Given the description of an element on the screen output the (x, y) to click on. 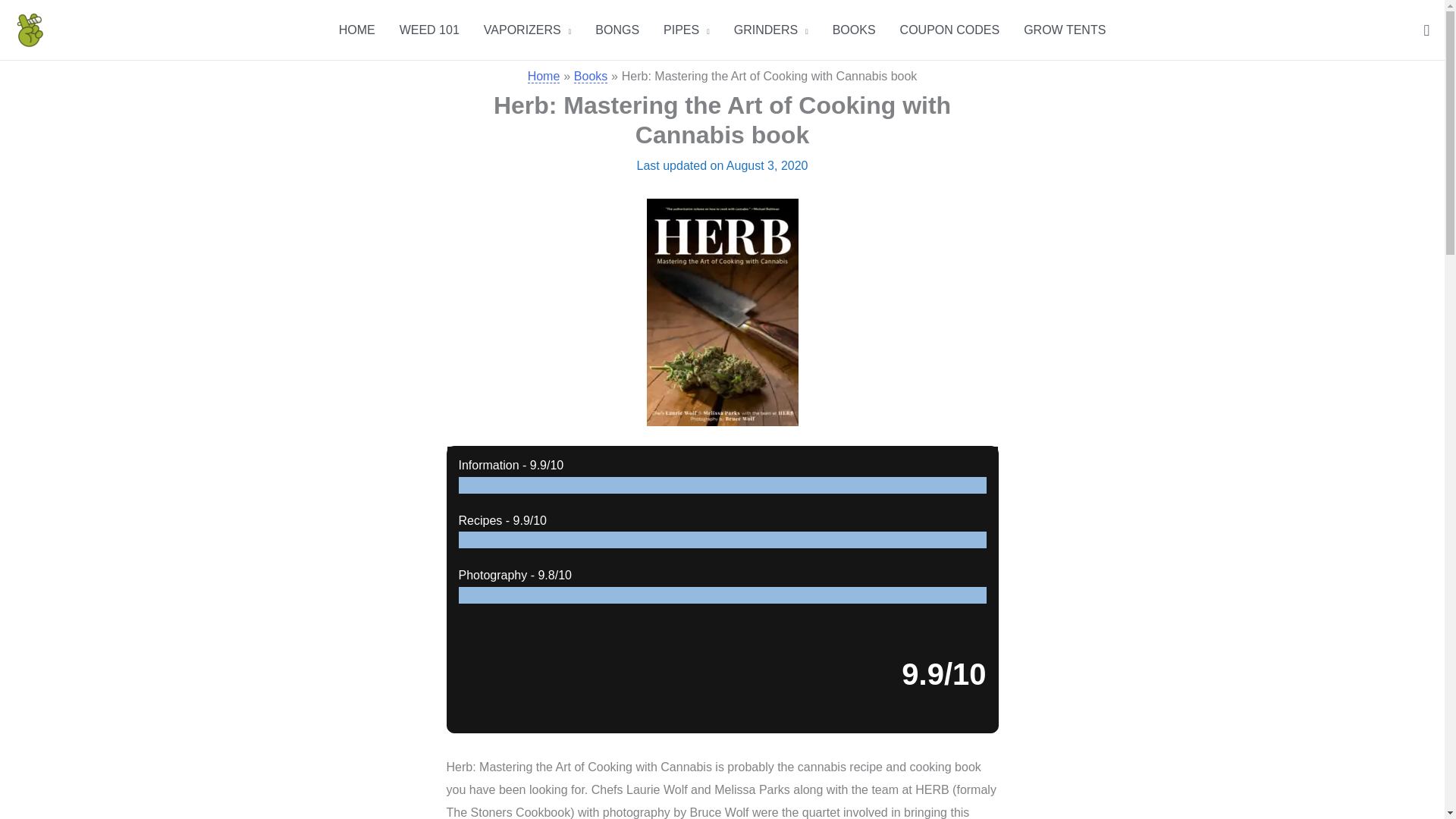
GRINDERS (771, 29)
VAPORIZERS (527, 29)
PIPES (686, 29)
WEED 101 (429, 29)
BOOKS (854, 29)
BONGS (616, 29)
COUPON CODES (949, 29)
GROW TENTS (1064, 29)
HOME (356, 29)
